Given the description of an element on the screen output the (x, y) to click on. 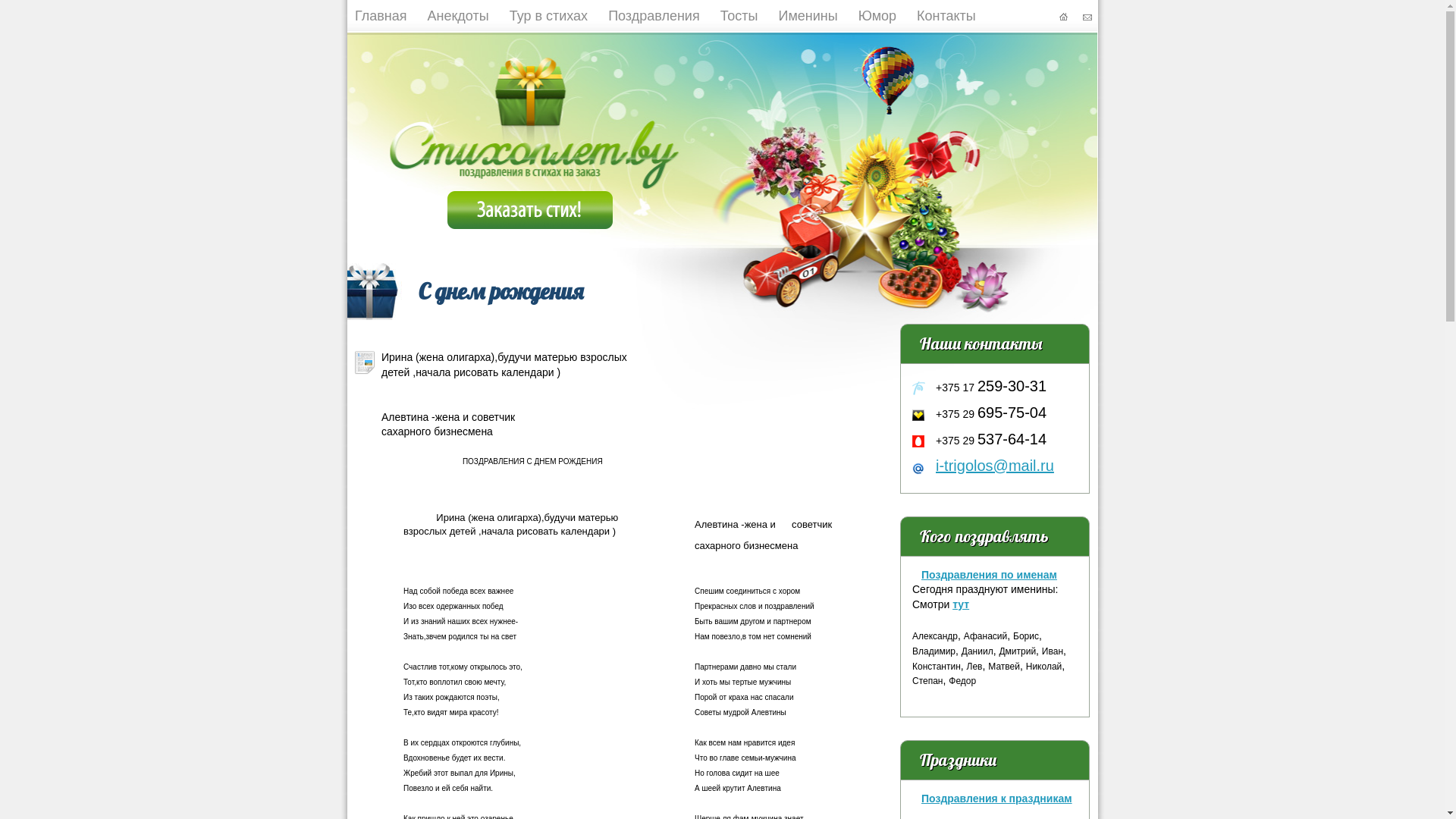
i-trigolos@mail.ru Element type: text (994, 465)
E-mail Element type: hover (919, 468)
velcom Element type: hover (919, 414)
